Given the description of an element on the screen output the (x, y) to click on. 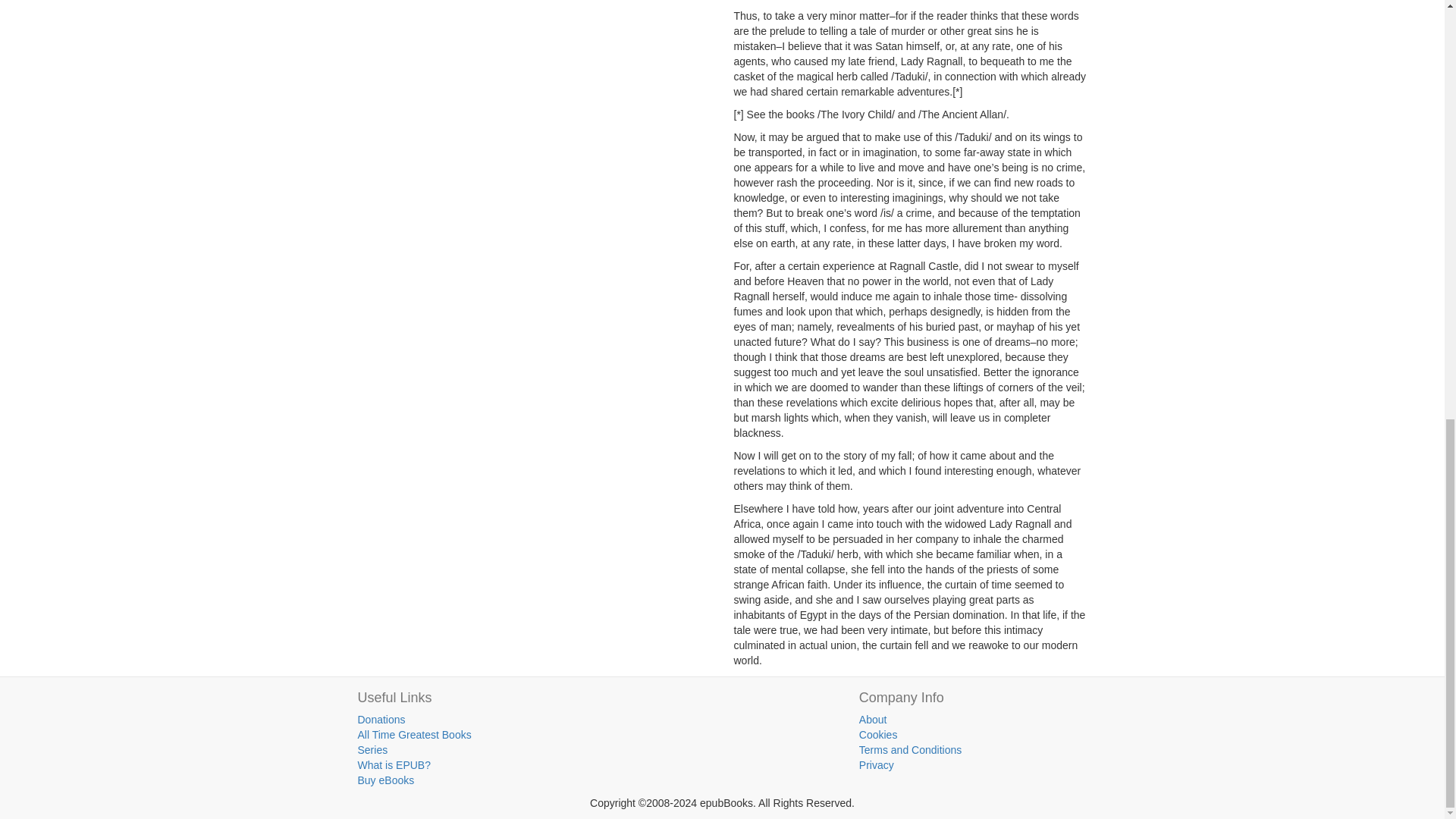
Privacy (876, 765)
Donations (382, 719)
Cookies (878, 734)
What is EPUB? (394, 765)
Terms and Conditions (909, 749)
Buy eBooks (386, 779)
Series (373, 749)
About (872, 719)
All Time Greatest Books (414, 734)
